Given the description of an element on the screen output the (x, y) to click on. 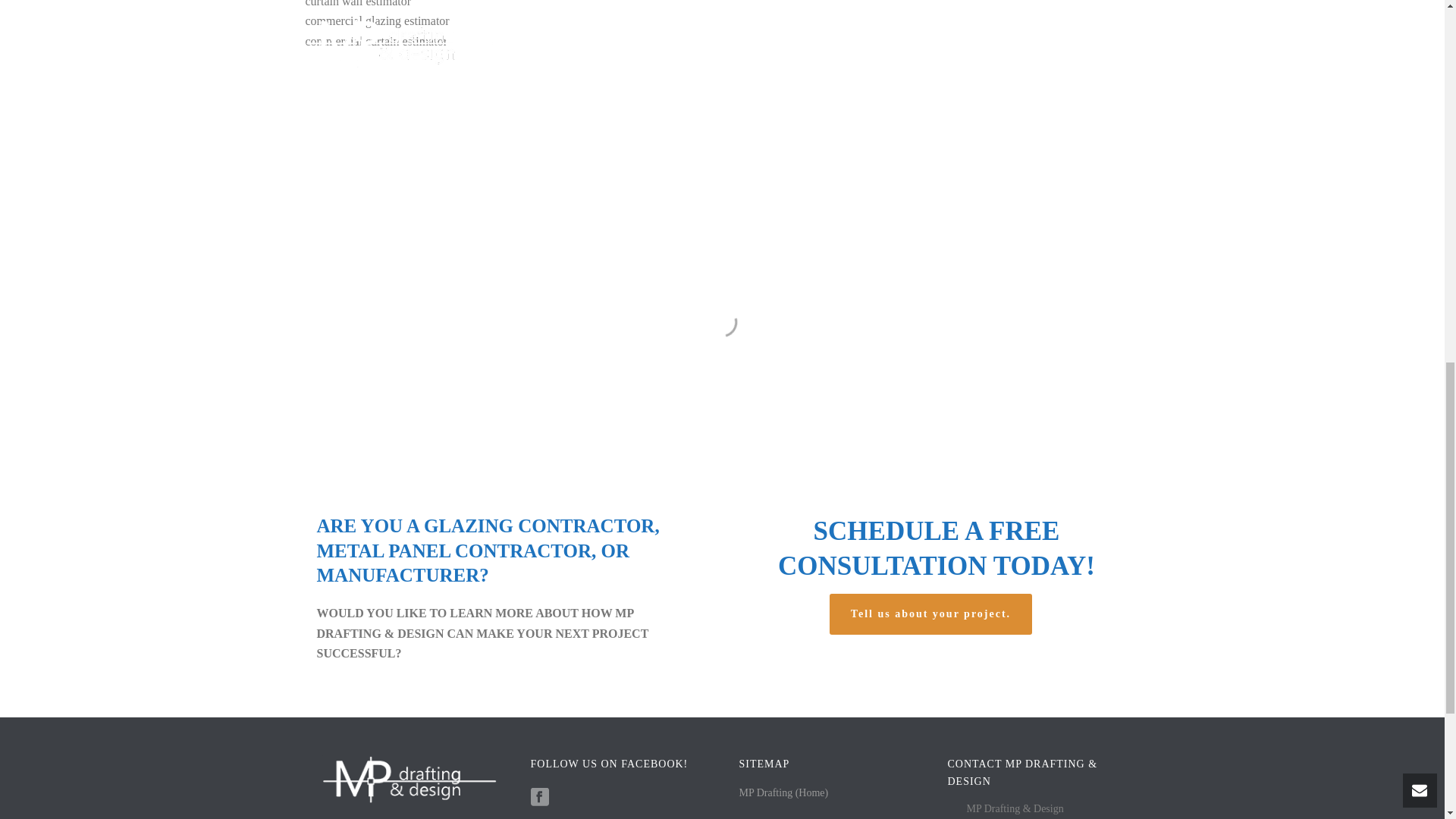
Tell us about your project. (930, 613)
Follow Us on Facebook! facebook (539, 797)
Tell us about your project. (930, 613)
MP Drafting Home (783, 792)
